Given the description of an element on the screen output the (x, y) to click on. 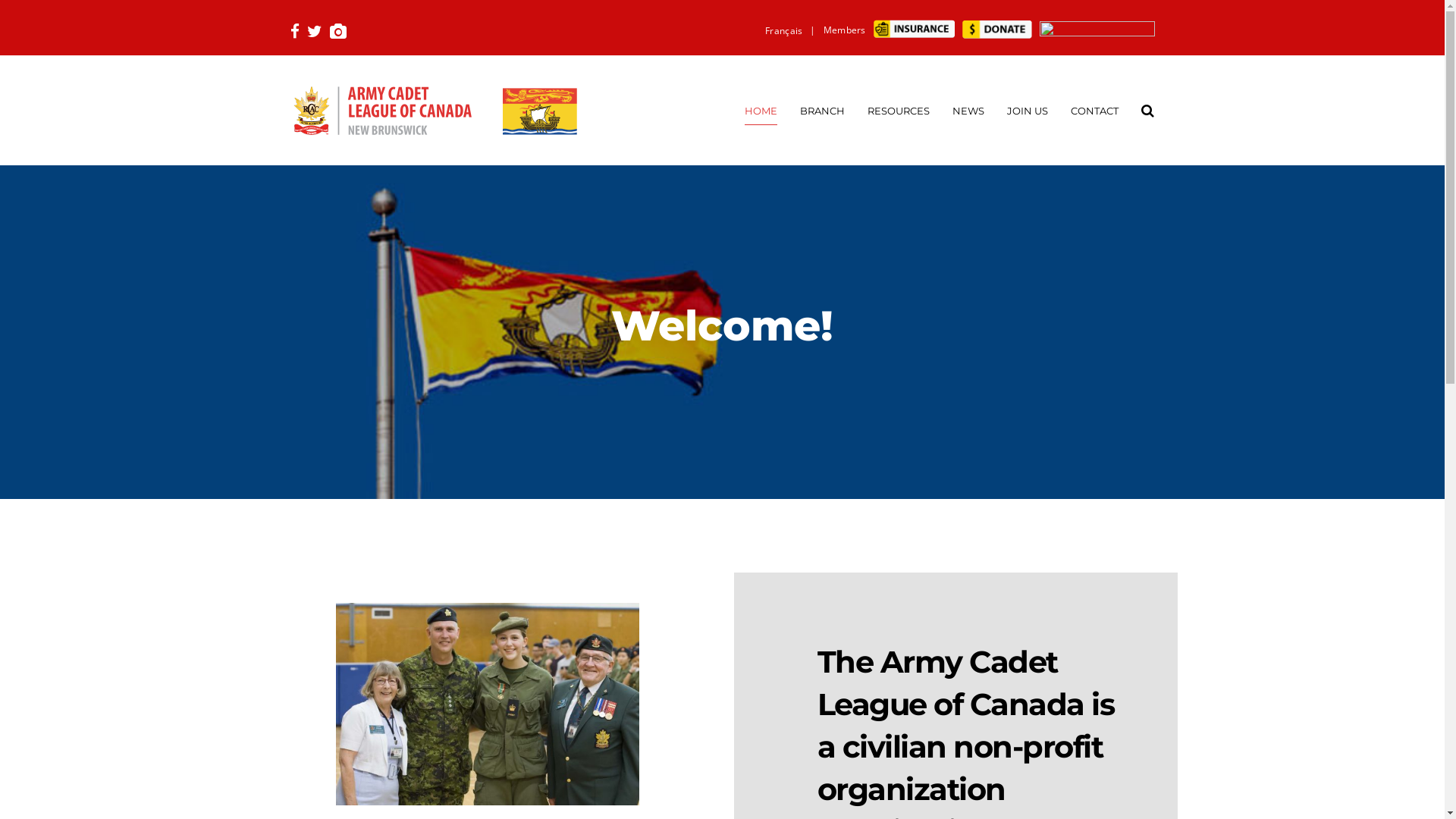
BRANCH Element type: text (821, 109)
JOIN US Element type: text (1027, 109)
RESOURCES Element type: text (898, 109)
NEWS Element type: text (968, 109)
Members Element type: text (844, 29)
CONTACT Element type: text (1094, 109)
HOME Element type: text (760, 109)
